Given the description of an element on the screen output the (x, y) to click on. 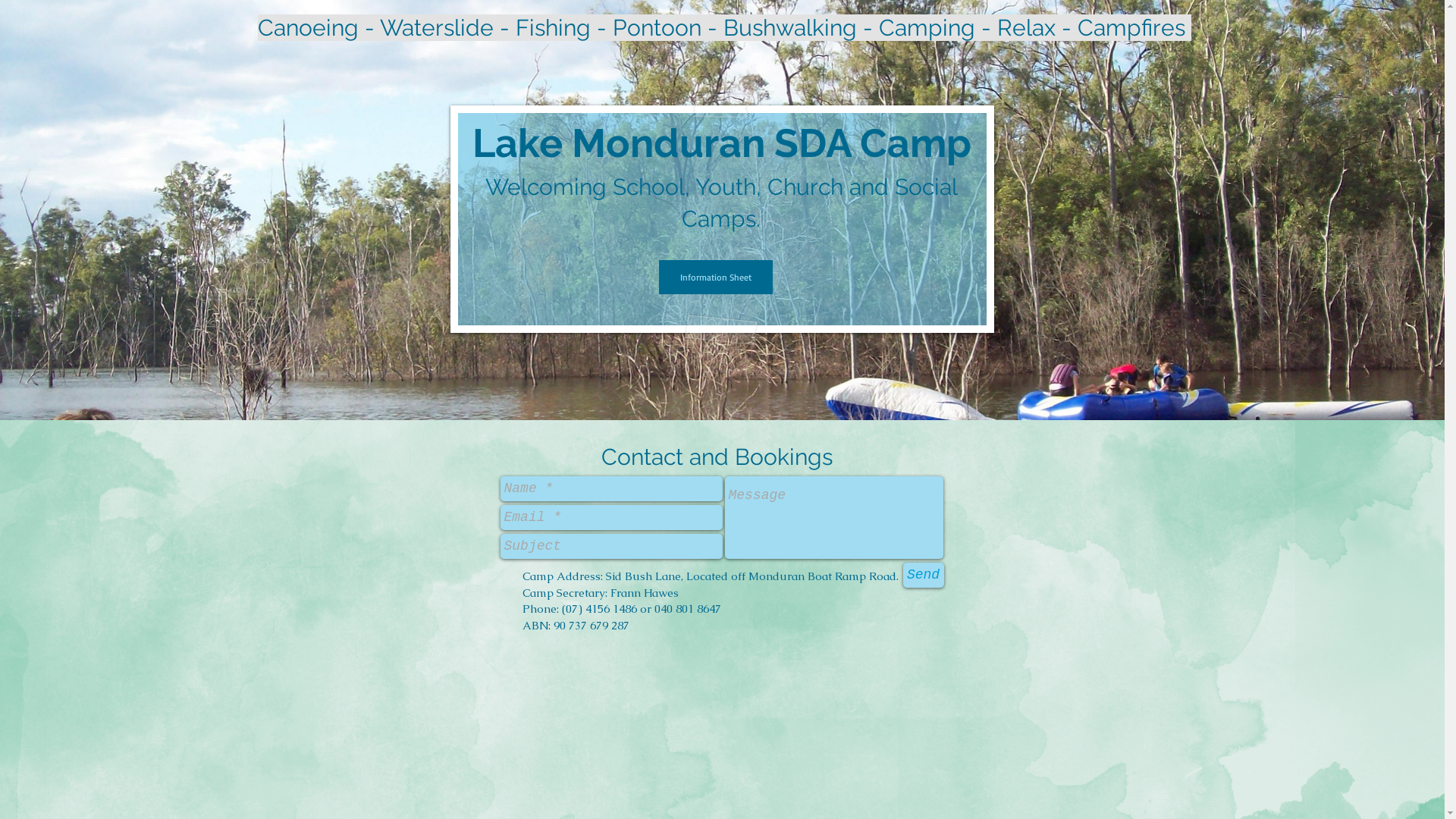
Send Element type: text (922, 574)
Information Sheet Element type: text (714, 277)
